Given the description of an element on the screen output the (x, y) to click on. 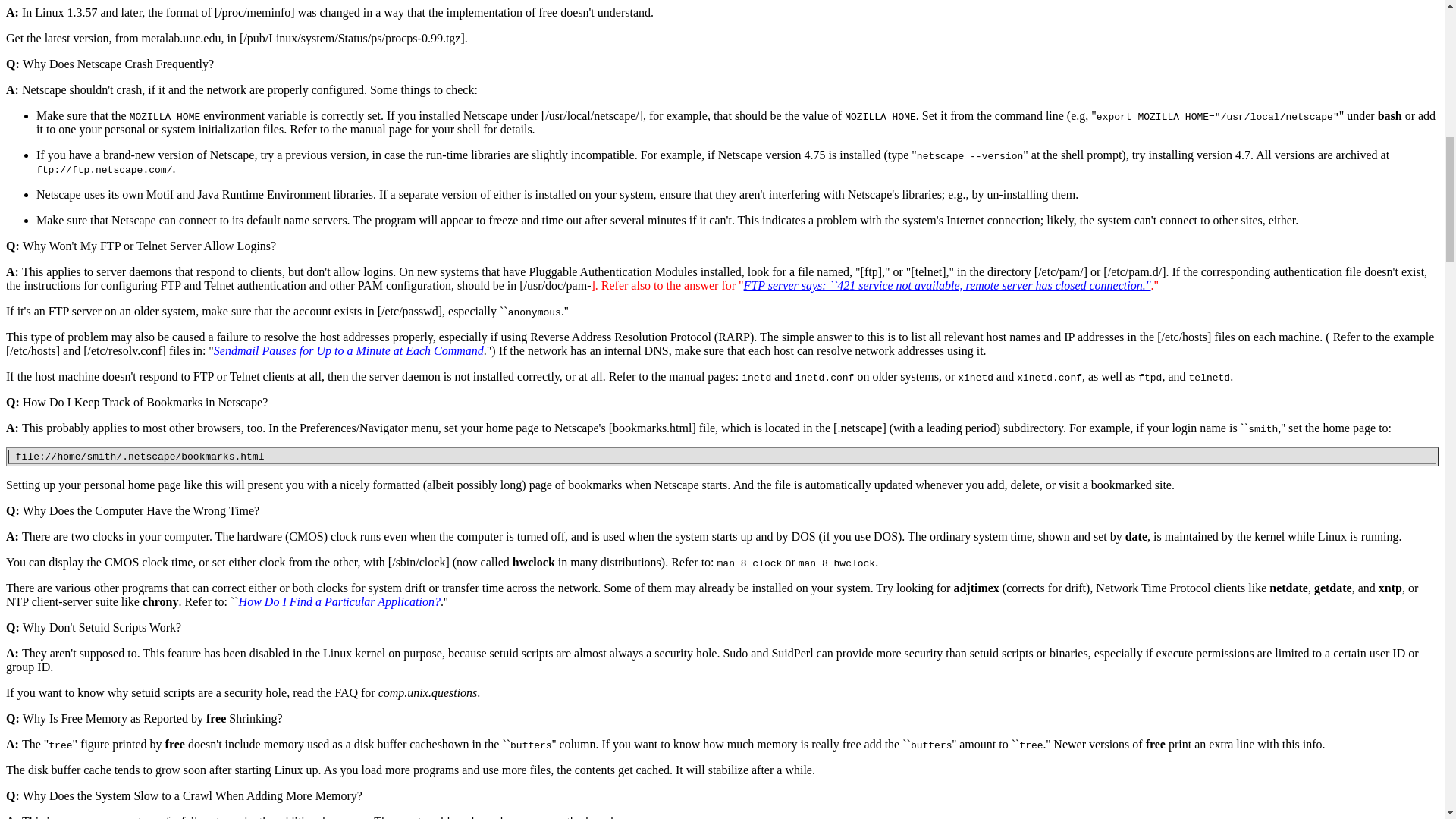
Q: Why Does Netscape Crash Frequently? (109, 63)
